Given the description of an element on the screen output the (x, y) to click on. 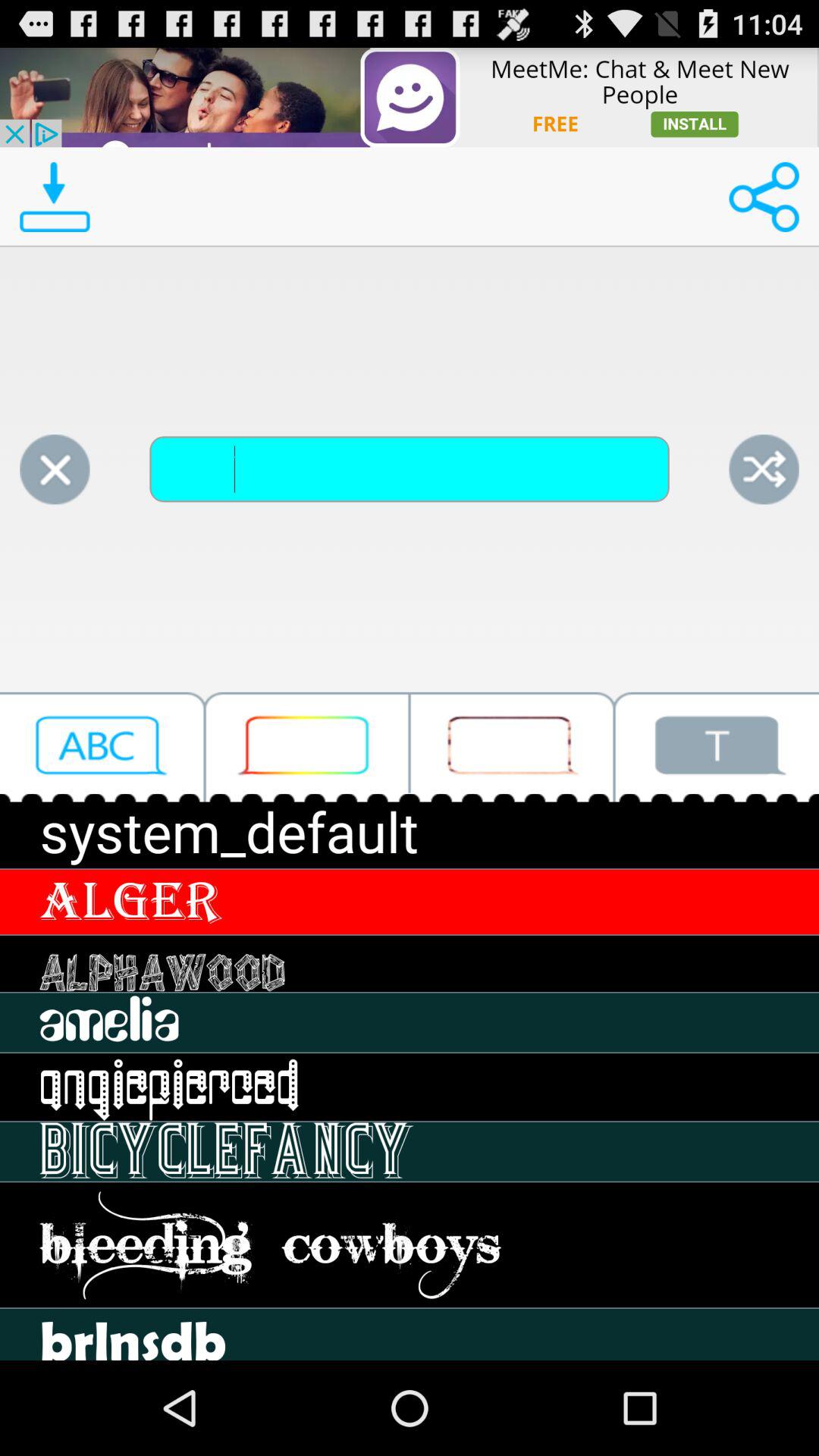
click button (511, 746)
